Given the description of an element on the screen output the (x, y) to click on. 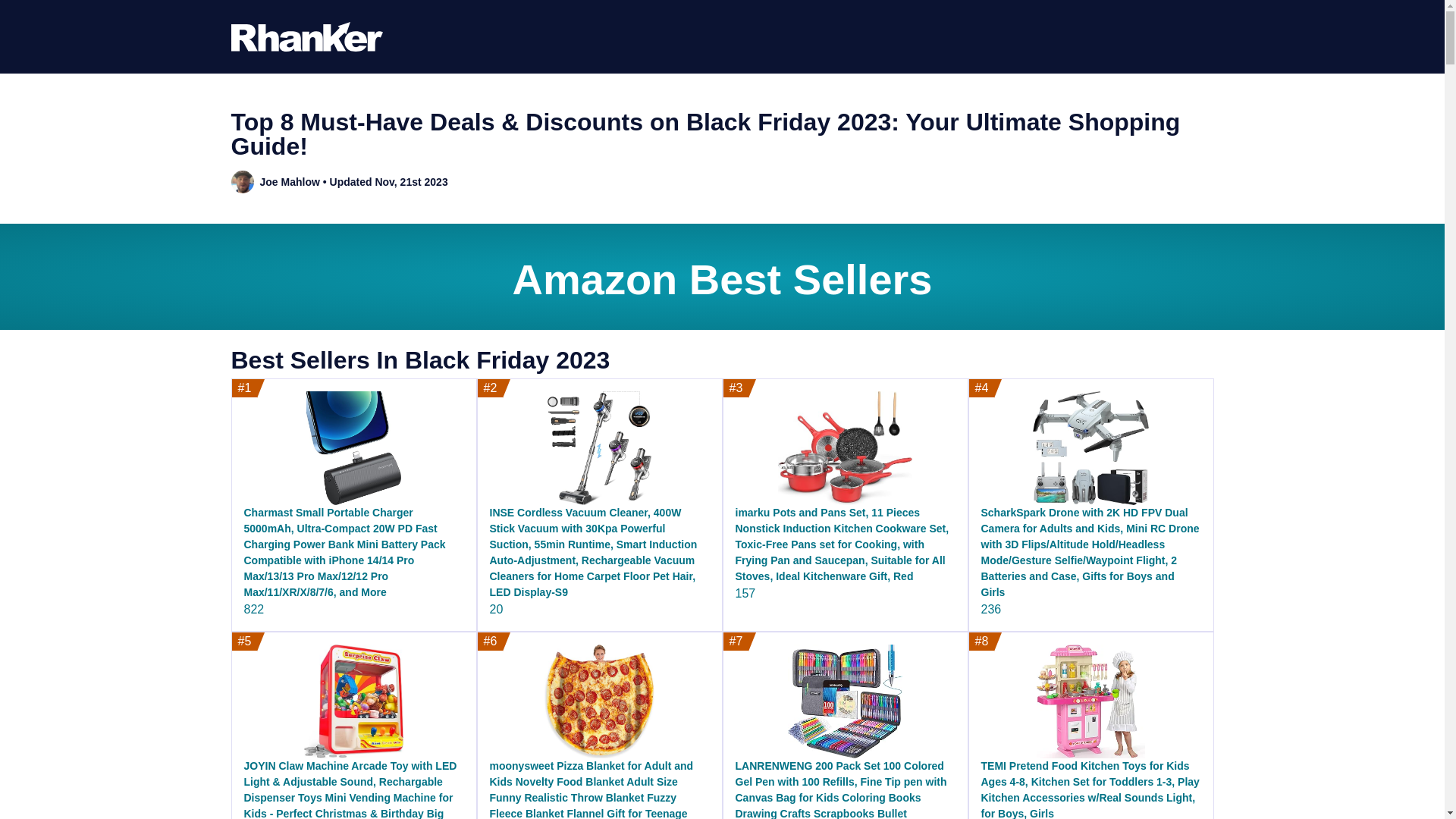
822 (254, 608)
236 (991, 608)
20 (496, 608)
Joe Mahlow (288, 182)
157 (745, 593)
